Given the description of an element on the screen output the (x, y) to click on. 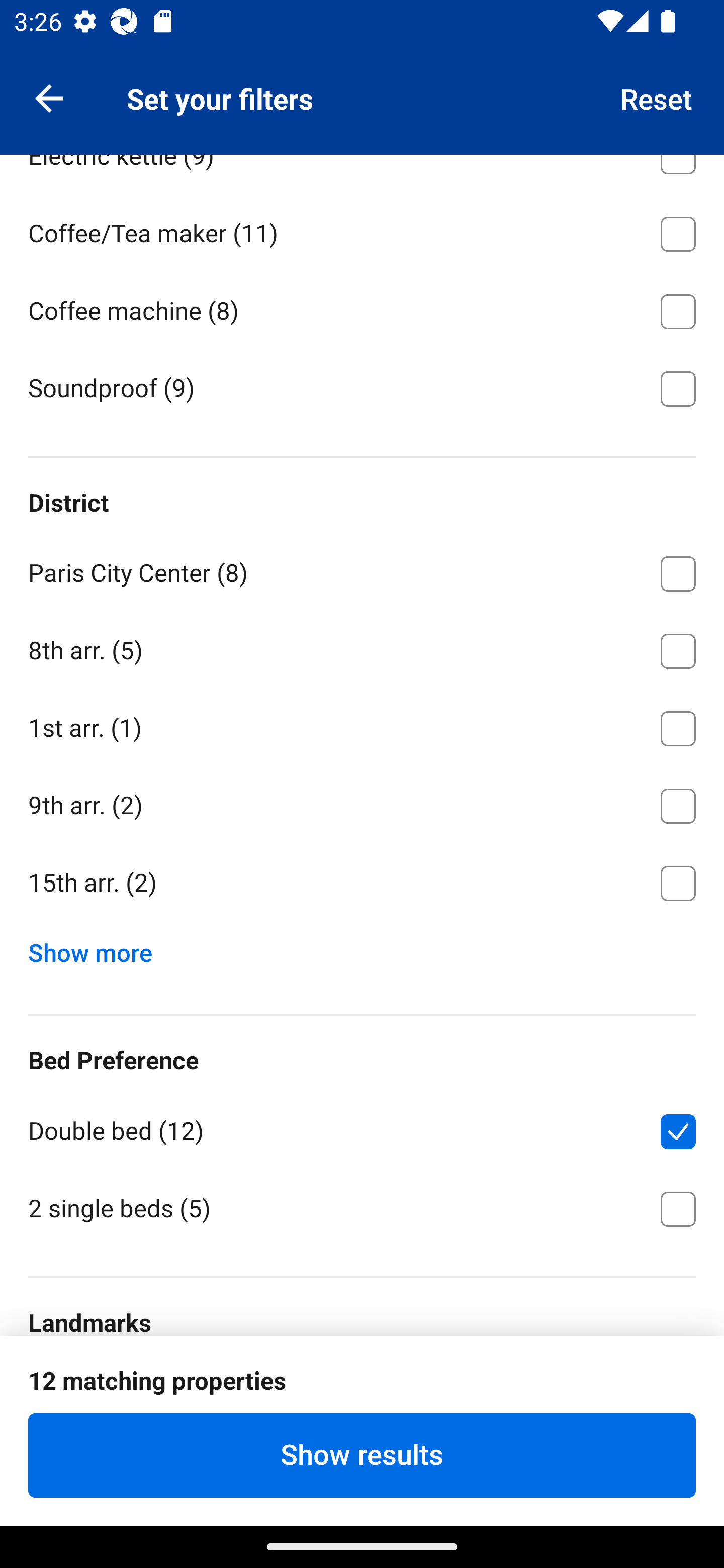
Spa tub ⁦(1) (361, 75)
Navigate up (49, 97)
Reset (656, 97)
Coffee/Tea maker ⁦(11) (361, 230)
Coffee machine ⁦(8) (361, 307)
Soundproof ⁦(9) (361, 387)
Paris City Center ⁦(8) (361, 569)
8th arr. ⁦(5) (361, 647)
1st arr. ⁦(1) (361, 724)
9th arr. ⁦(2) (361, 802)
15th arr. ⁦(2) (361, 883)
Show more (97, 948)
Double bed ⁦(12) (361, 1127)
2 single beds ⁦(5) (361, 1207)
Eiffel Tower ⁦(1) (361, 1390)
Show results (361, 1454)
